Given the description of an element on the screen output the (x, y) to click on. 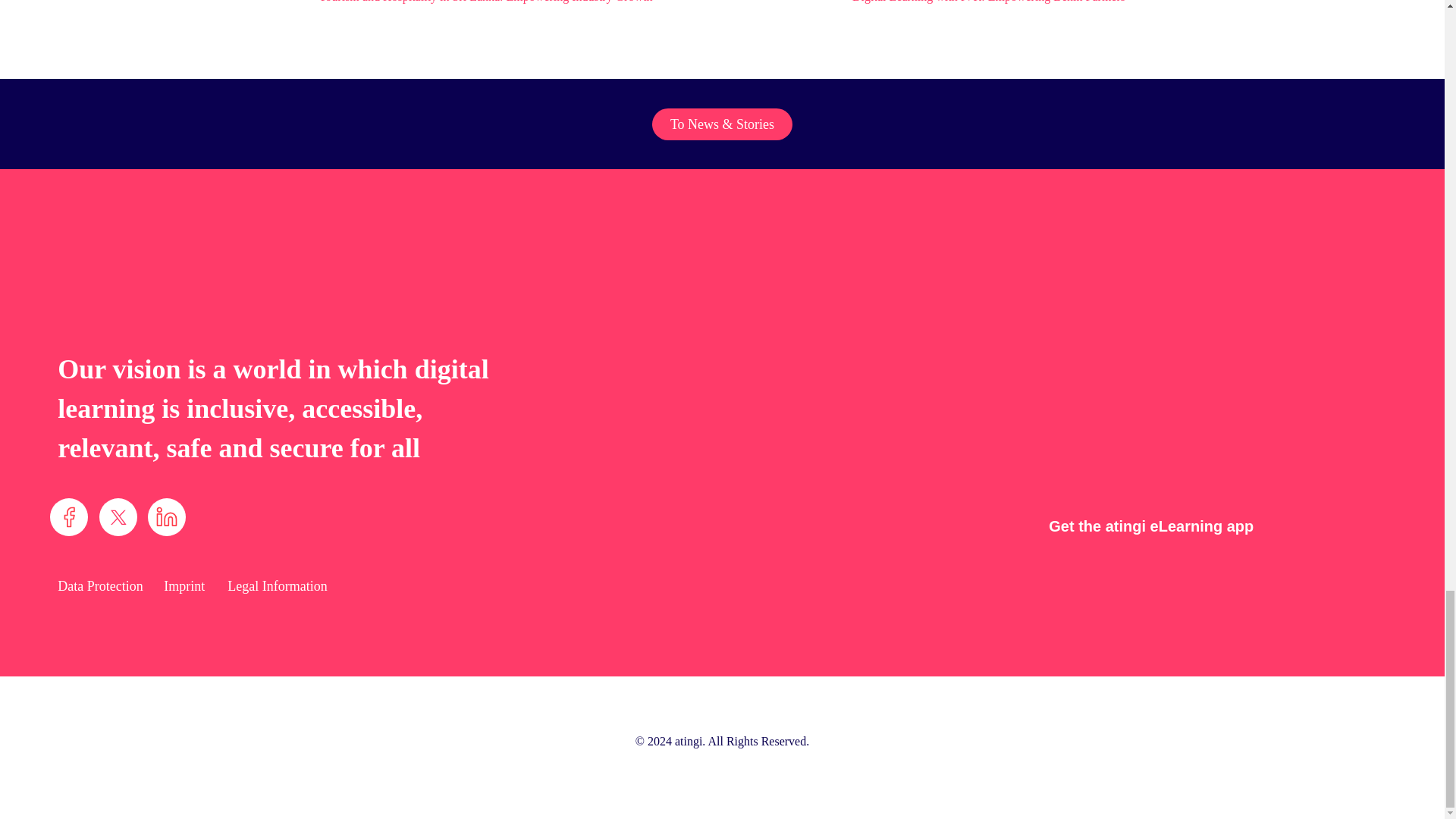
giz-full-logo (1291, 747)
play-store-badge (1314, 522)
